Given the description of an element on the screen output the (x, y) to click on. 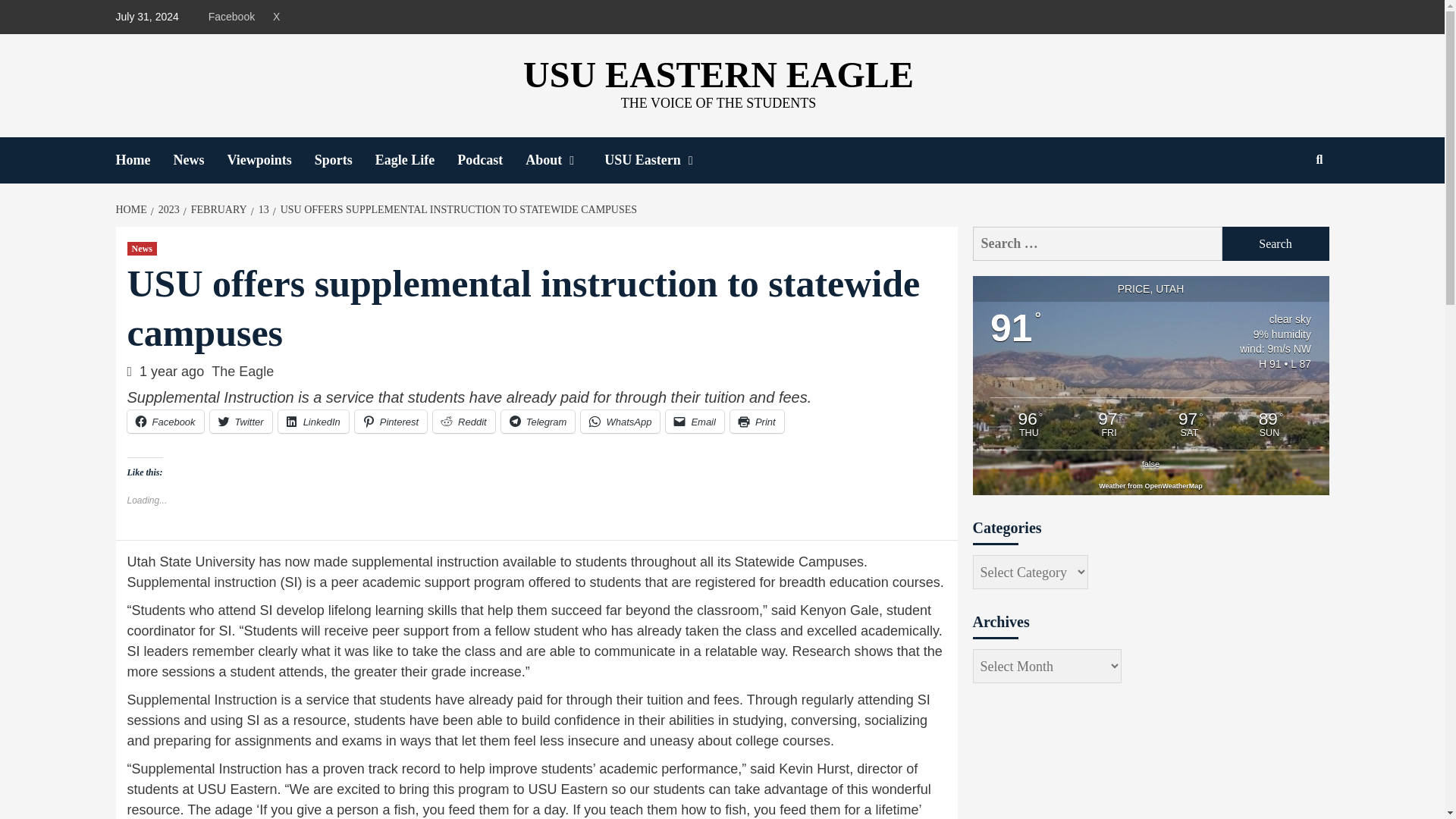
News (142, 248)
About (564, 160)
Click to share on Twitter (240, 421)
Reddit (463, 421)
The Eagle (242, 371)
Viewpoints (270, 160)
Click to share on Pinterest (390, 421)
Posts by The Eagle (242, 371)
LinkedIn (313, 421)
Click to share on WhatsApp (619, 421)
Sports (344, 160)
HOME (132, 209)
Facebook (165, 421)
Eagle Life (416, 160)
Pinterest (390, 421)
